Given the description of an element on the screen output the (x, y) to click on. 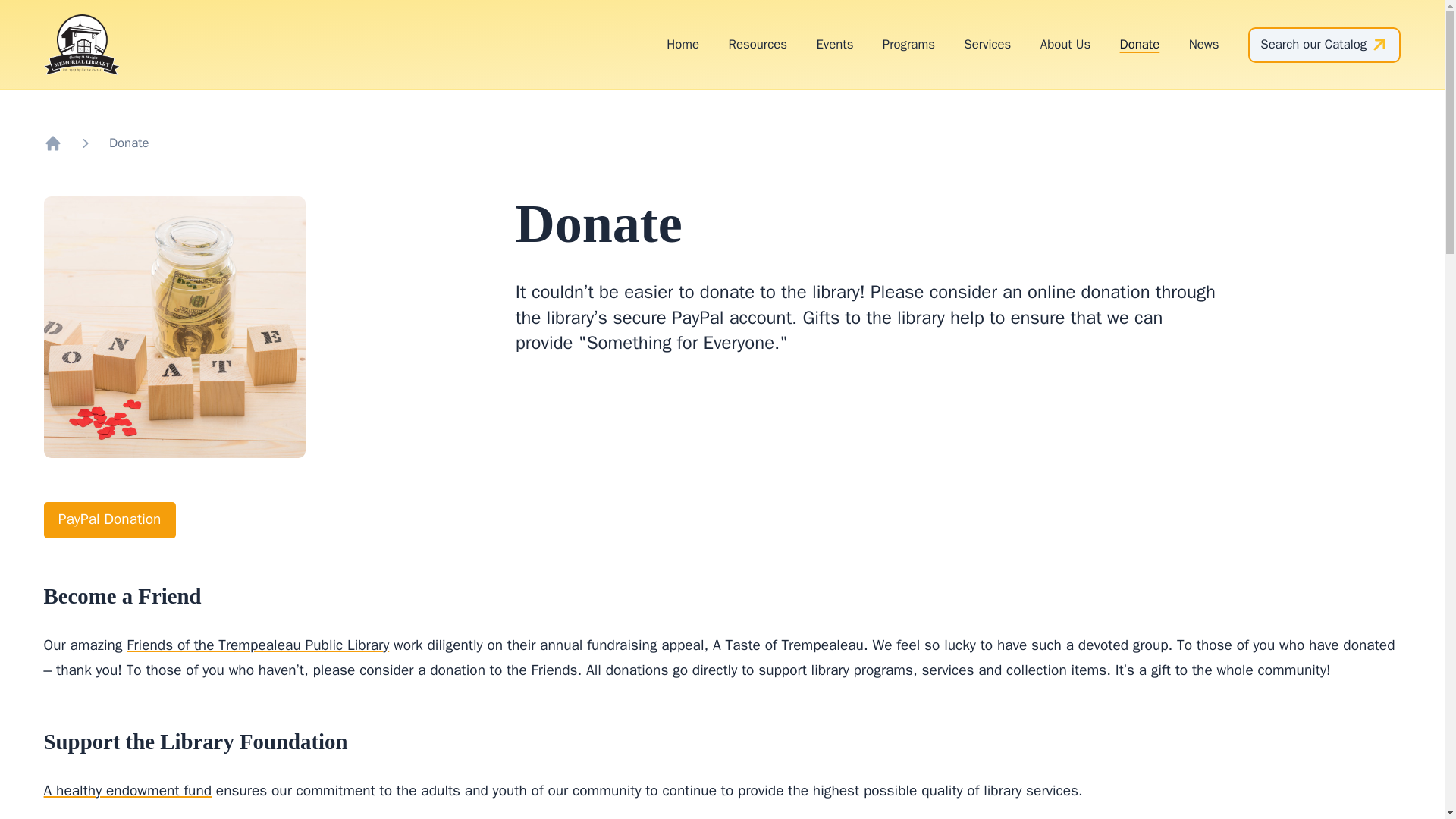
Events (834, 44)
PayPal Donation (109, 520)
PayPal Donation (109, 520)
Home (682, 44)
Services (986, 44)
Home (52, 143)
Resources (757, 44)
Donate (129, 143)
Programs (909, 44)
About Us (1065, 44)
